Given the description of an element on the screen output the (x, y) to click on. 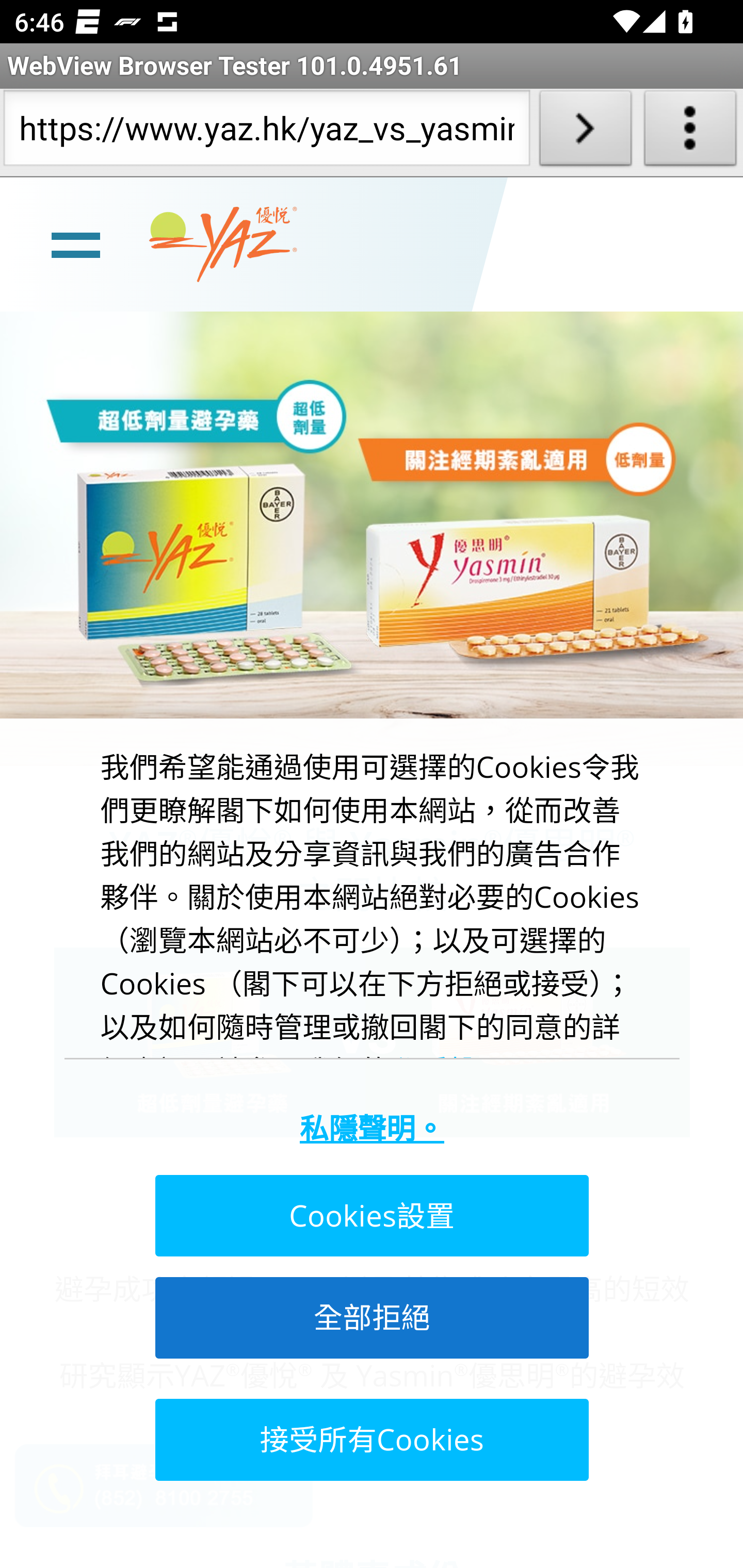
Load URL (585, 132)
About WebView (690, 132)
www.yaz (222, 244)
line Toggle burger menu (75, 242)
Cookies設置 (370, 1215)
全部拒絕 (370, 1317)
接受所有Cookies (370, 1439)
